Given the description of an element on the screen output the (x, y) to click on. 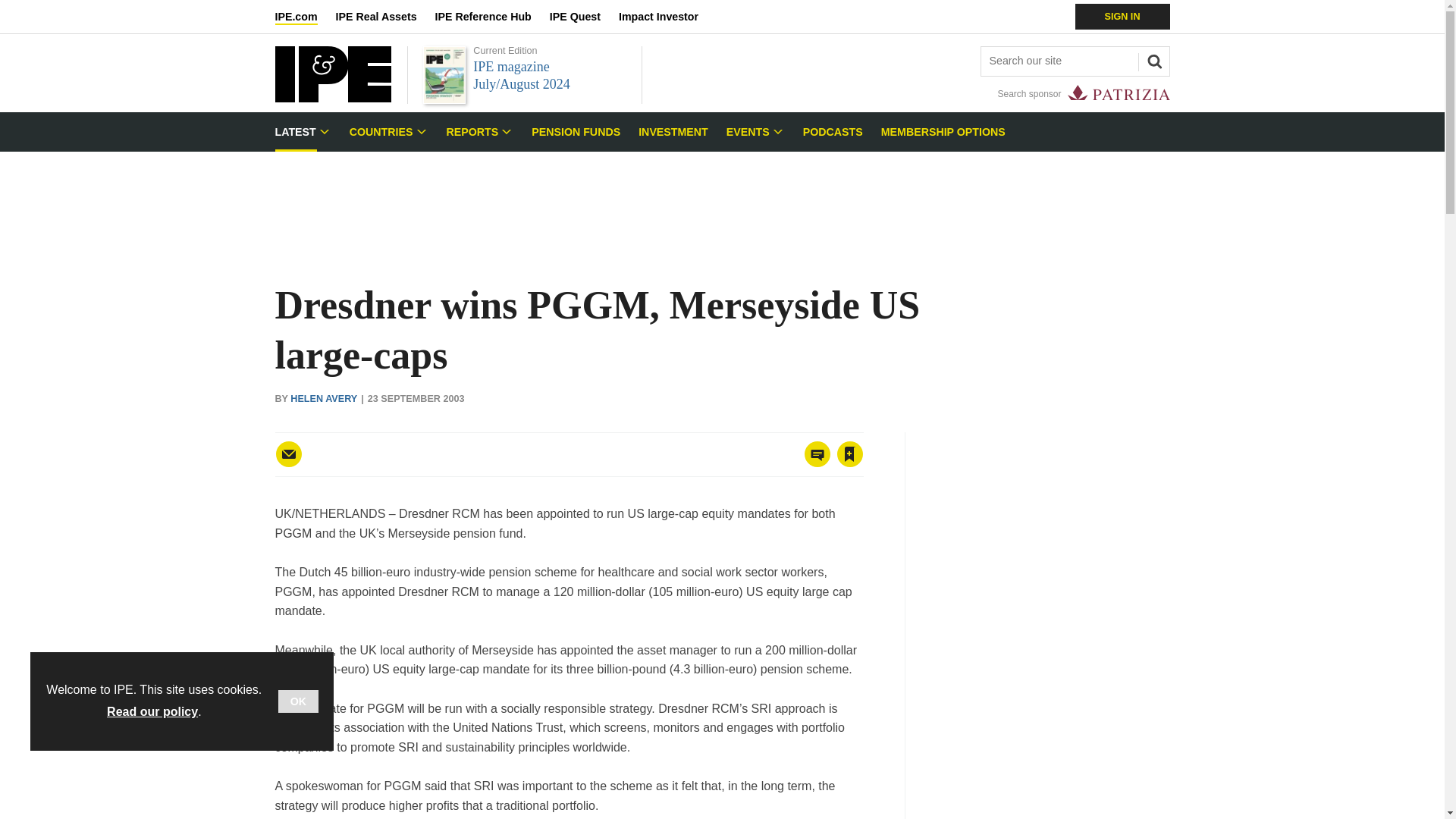
IPE Quest (583, 16)
IPE Reference Hub (491, 16)
Read our policy (152, 711)
IPE Quest (583, 16)
IPE Real Assets (384, 16)
Impact Investor (667, 16)
IPE Reference Hub (491, 16)
Impact Investor (667, 16)
SIGN IN (1122, 16)
IPE (332, 97)
3rd party ad content (721, 201)
Email this article (288, 452)
IPE Real Assets (384, 16)
SEARCH (1152, 59)
OK (298, 701)
